Given the description of an element on the screen output the (x, y) to click on. 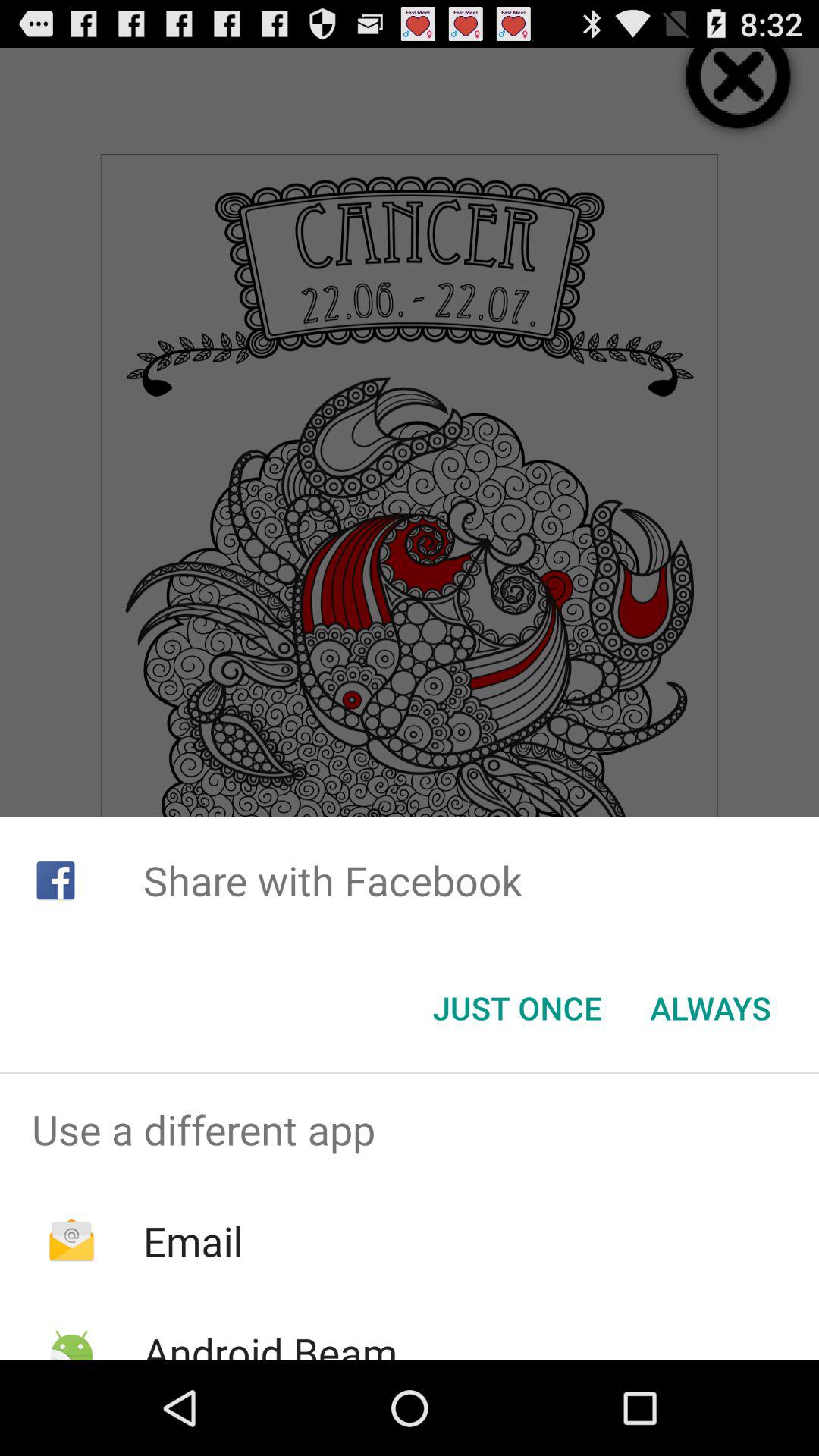
press the always button (710, 1007)
